Given the description of an element on the screen output the (x, y) to click on. 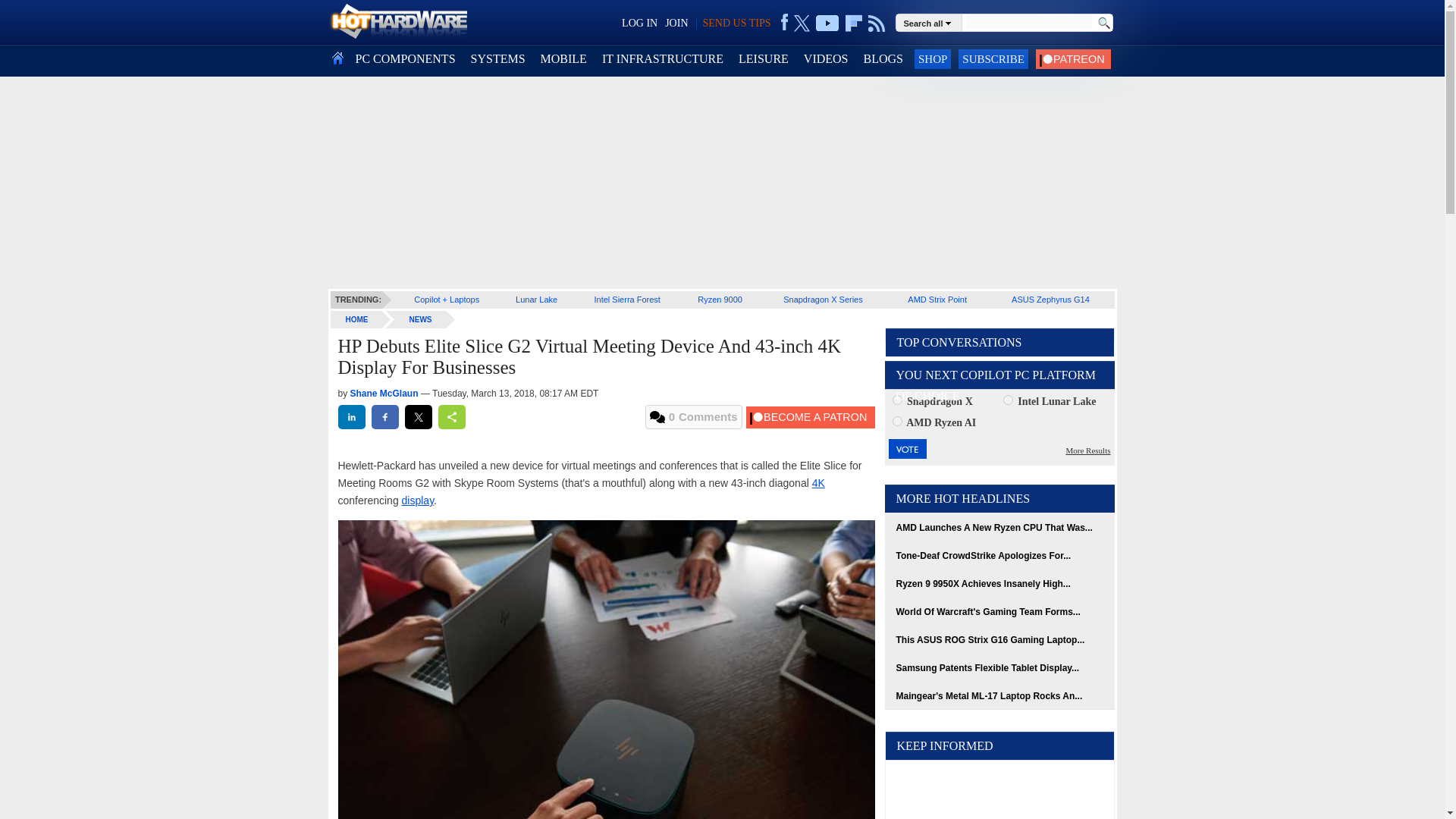
keyword (1028, 21)
JOIN (676, 22)
758 (1008, 399)
PC COMPONENTS (405, 58)
Go (1103, 22)
Comments (693, 416)
Go (1103, 22)
759 (896, 420)
LOG IN (639, 22)
757 (896, 399)
Search all (929, 22)
Blogs (883, 58)
Go (1103, 22)
SIGN OUT (39, 18)
SEND US TIPS (735, 22)
